Given the description of an element on the screen output the (x, y) to click on. 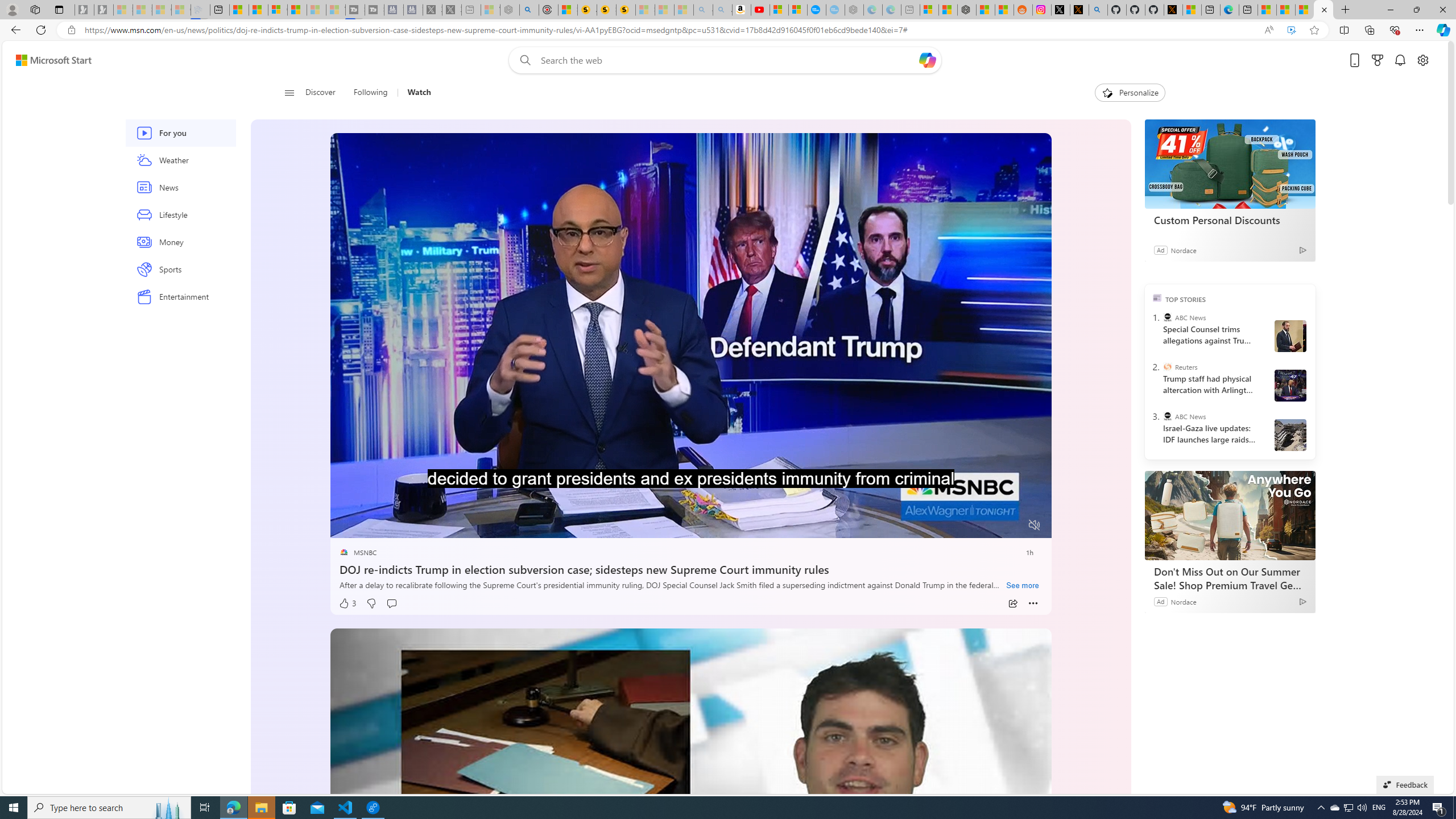
X - Sleeping (450, 9)
help.x.com | 524: A timeout occurred (1079, 9)
Feedback (1404, 784)
Personal Profile (12, 9)
Amazon Echo Dot PNG - Search Images - Sleeping (721, 9)
github - Search (1098, 9)
Copilot (Ctrl+Shift+.) (1442, 29)
Settings and more (Alt+F) (1419, 29)
MSNBC - MSN (1285, 9)
amazon - Search - Sleeping (702, 9)
